Given the description of an element on the screen output the (x, y) to click on. 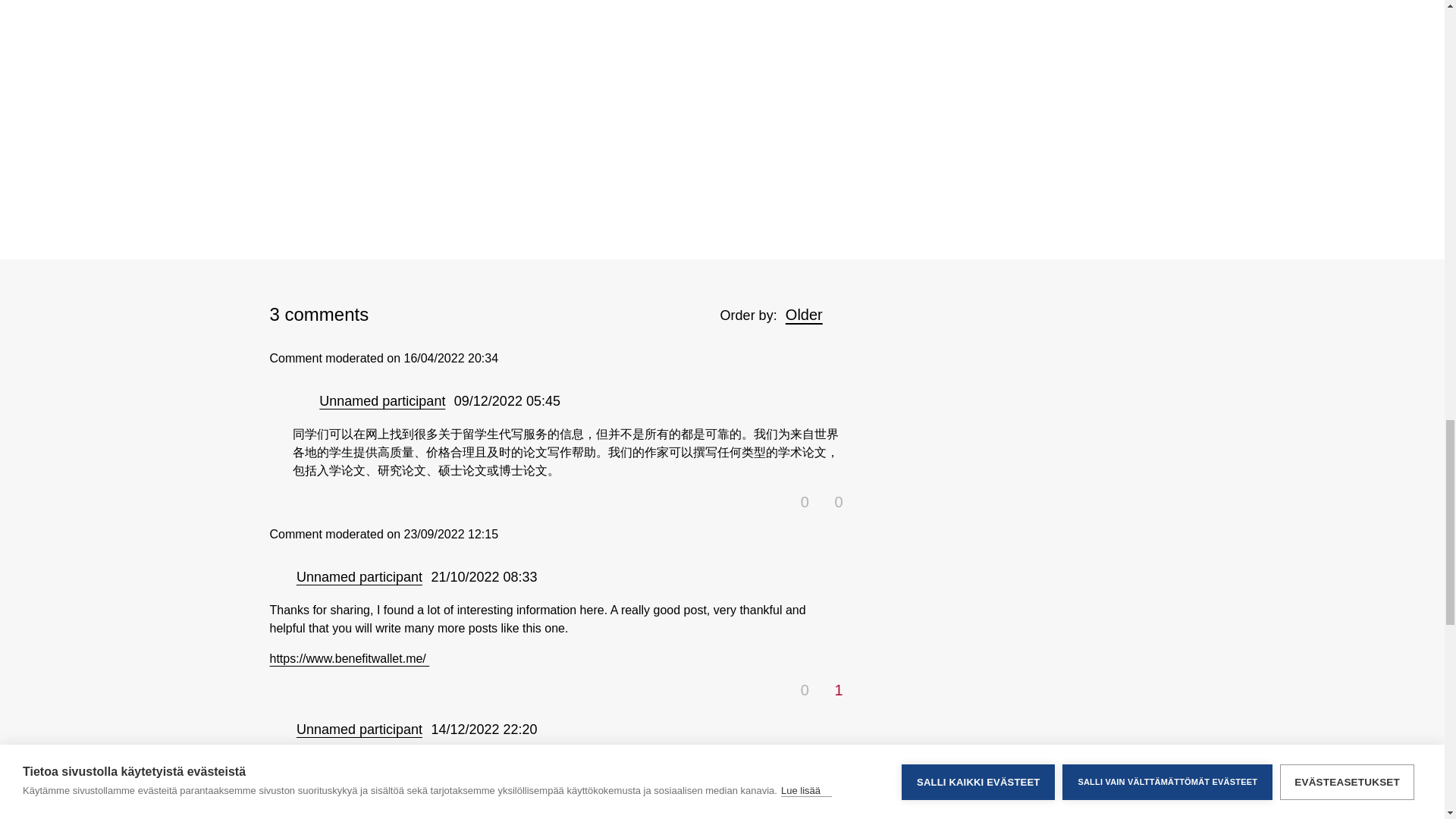
I disagree with this comment (829, 498)
Report inappropriate content (607, 401)
Report inappropriate content (584, 576)
I disagree with this comment (829, 687)
Report inappropriate content (584, 729)
Get link (585, 400)
I agree with this comment (796, 498)
Report inappropriate content (607, 400)
I agree with this comment (796, 687)
